Given the description of an element on the screen output the (x, y) to click on. 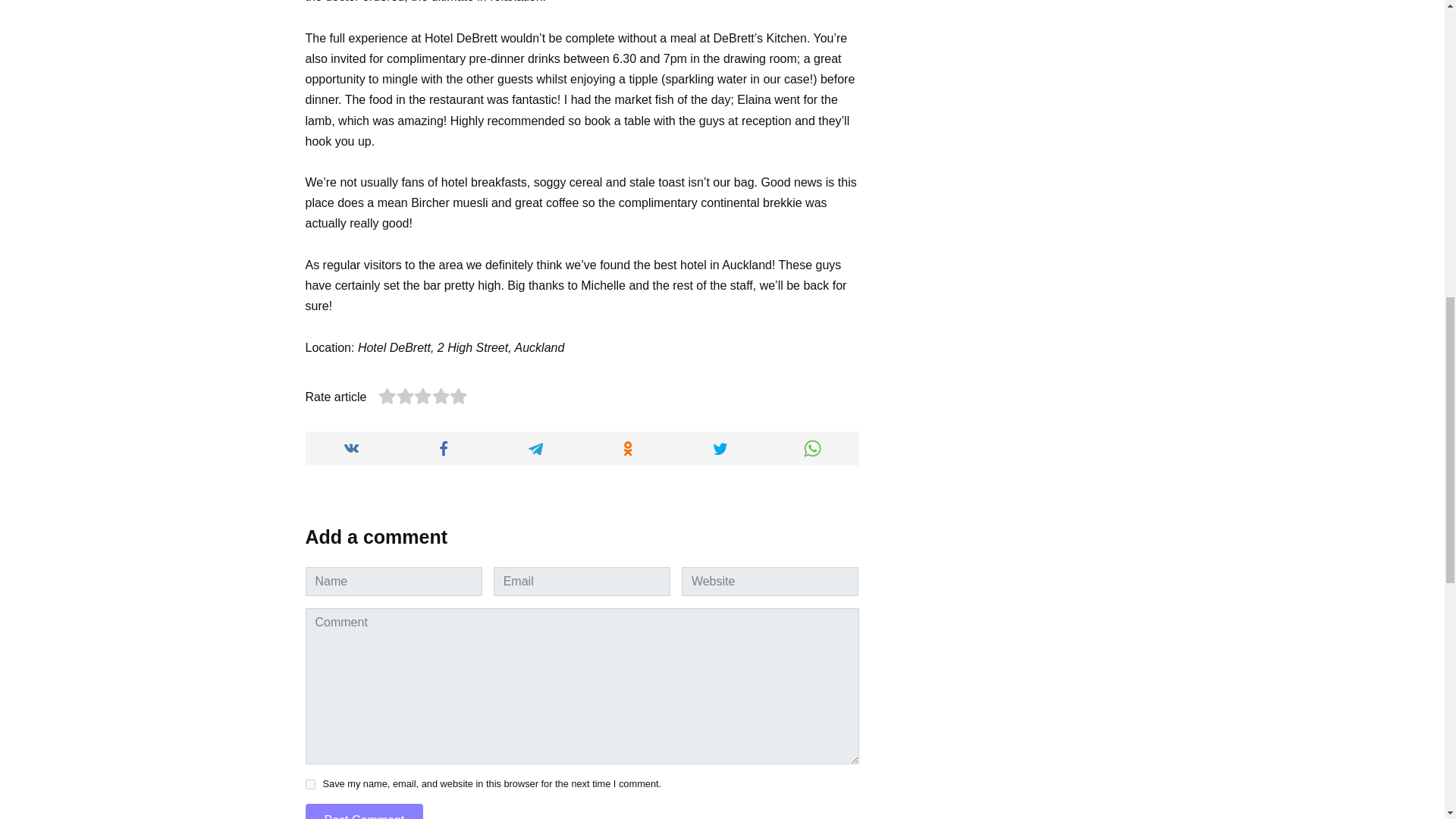
yes (309, 784)
Post Comment (363, 811)
Post Comment (363, 811)
